Given the description of an element on the screen output the (x, y) to click on. 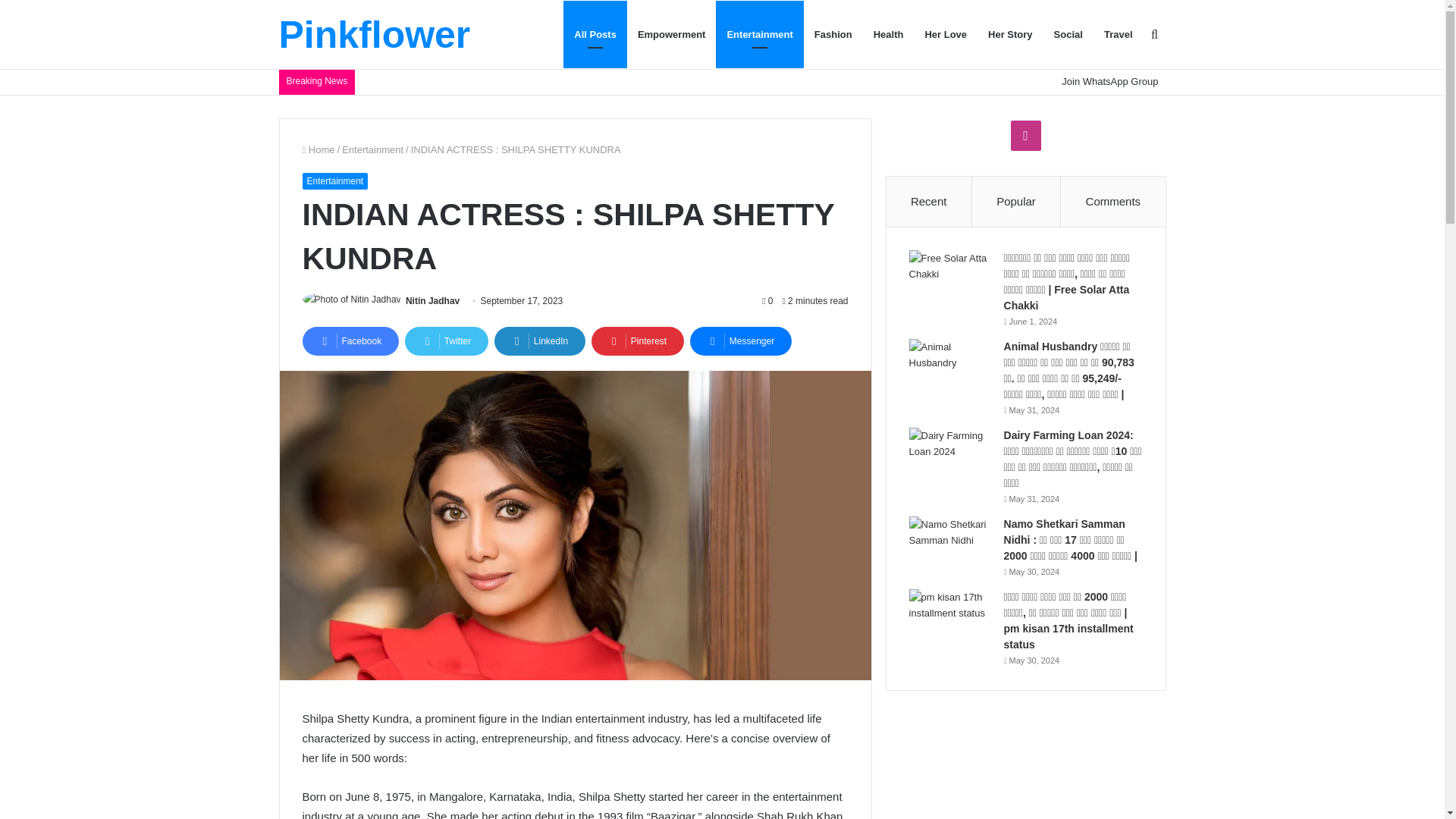
Her Story (1009, 33)
LinkedIn (540, 340)
Messenger (741, 340)
Nitin Jadhav (433, 300)
Entertainment (334, 180)
Facebook (349, 340)
Facebook (349, 340)
Pinkflower (374, 34)
Entertainment (759, 33)
Pinterest (637, 340)
Pinkflower (507, 35)
Pinterest (637, 340)
Home (317, 149)
Nitin Jadhav (433, 300)
Join WhatsApp Group (1110, 81)
